Given the description of an element on the screen output the (x, y) to click on. 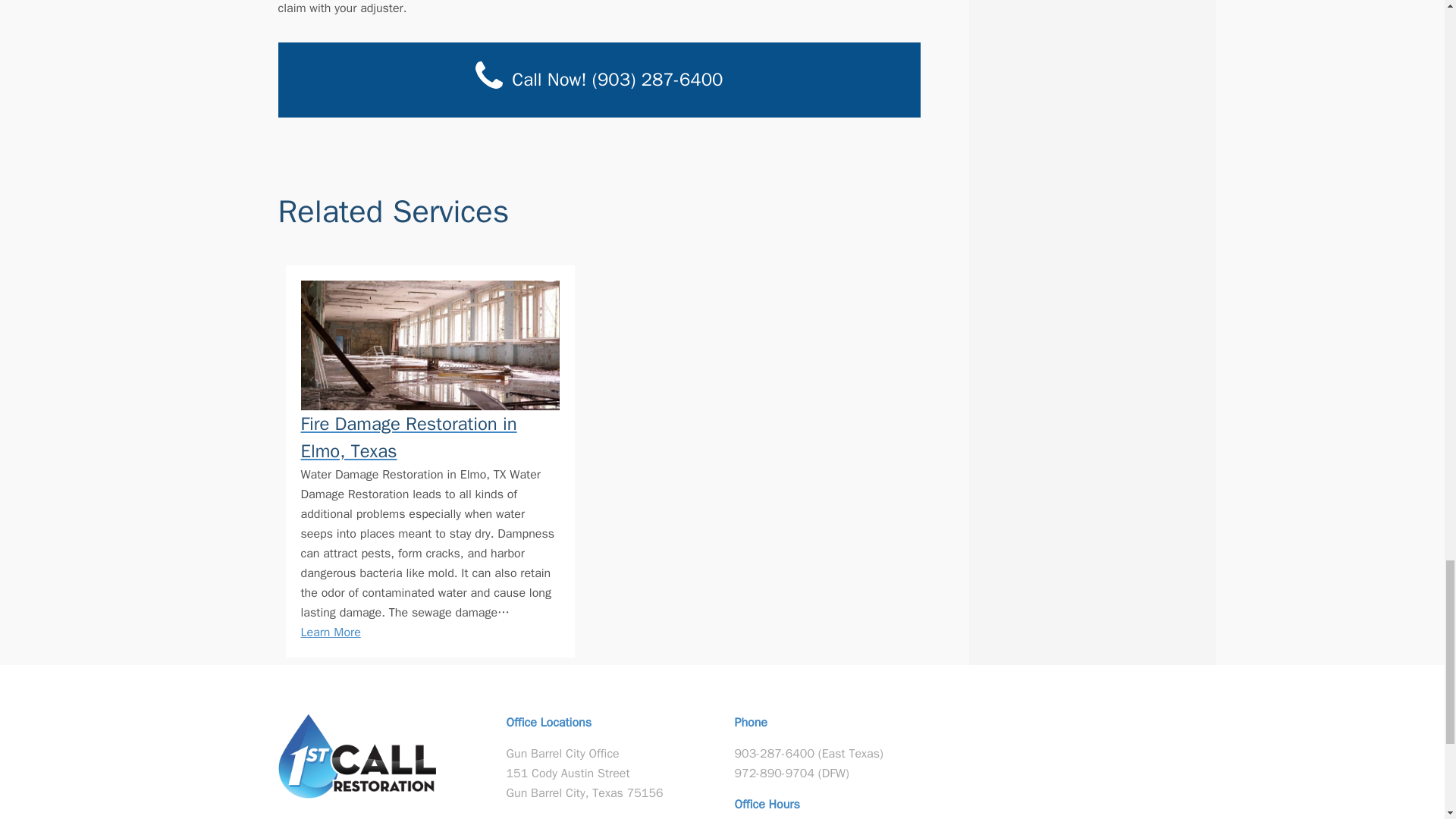
Fire Damage Restoration in Elmo, Texas (429, 437)
Learn More (329, 631)
